Given the description of an element on the screen output the (x, y) to click on. 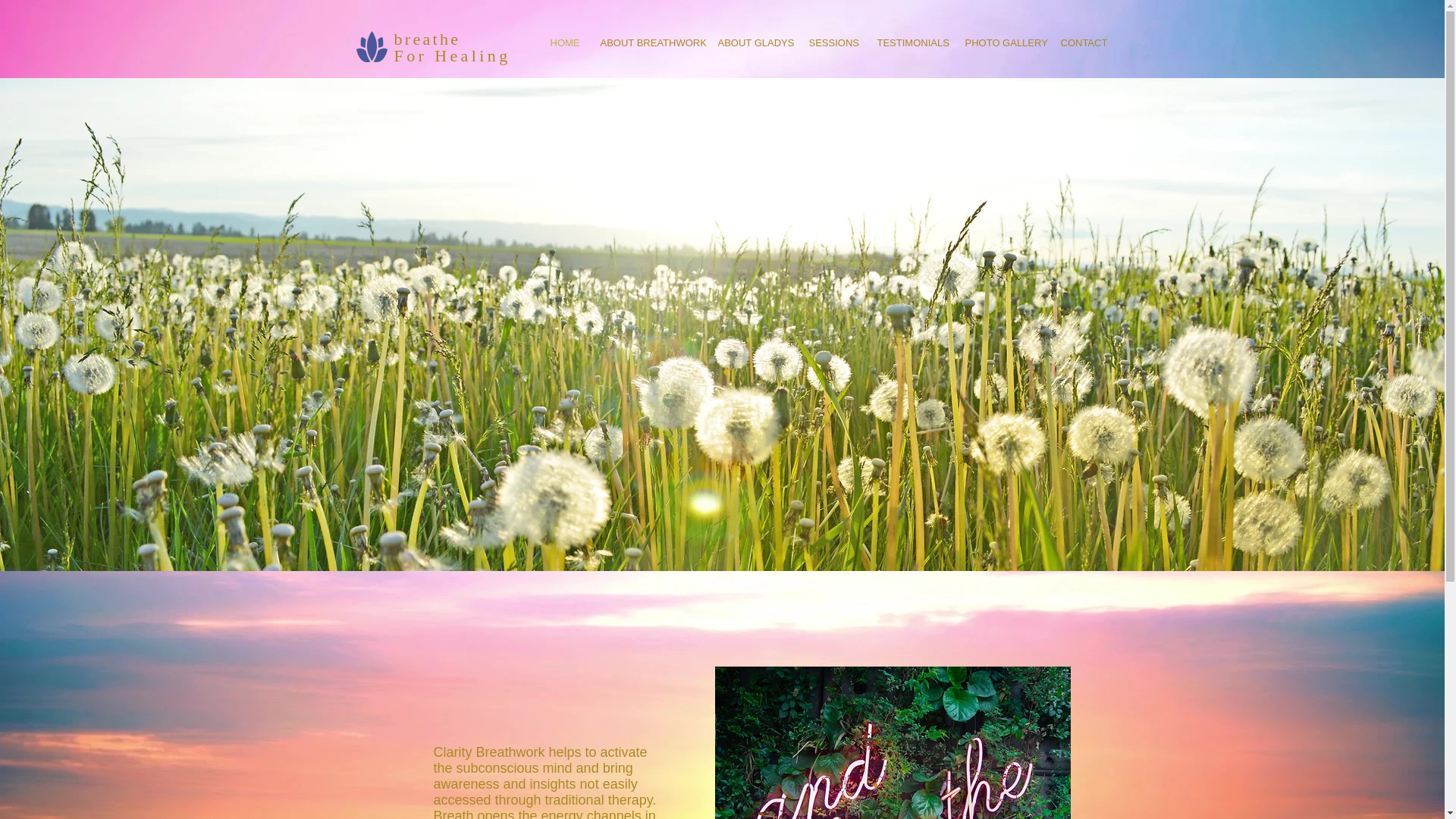
TESTIMONIALS (909, 42)
ABOUT BREATHWORK (647, 42)
ABOUT GLADYS (751, 42)
breathe (427, 38)
SESSIONS (831, 42)
HOME (563, 42)
PHOTO GALLERY (1001, 42)
CONTACT (1080, 42)
